Given the description of an element on the screen output the (x, y) to click on. 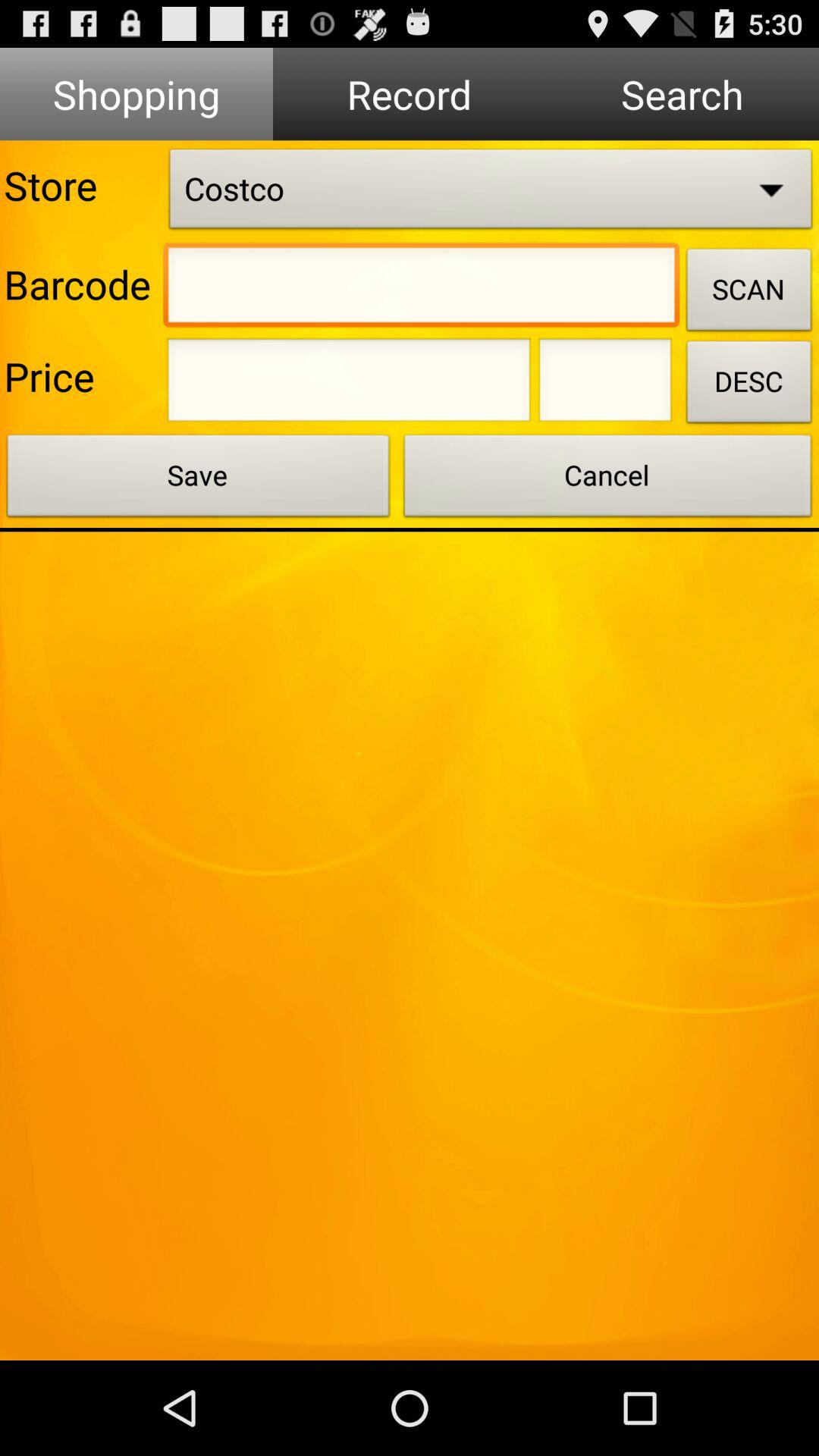
enter price (348, 384)
